Given the description of an element on the screen output the (x, y) to click on. 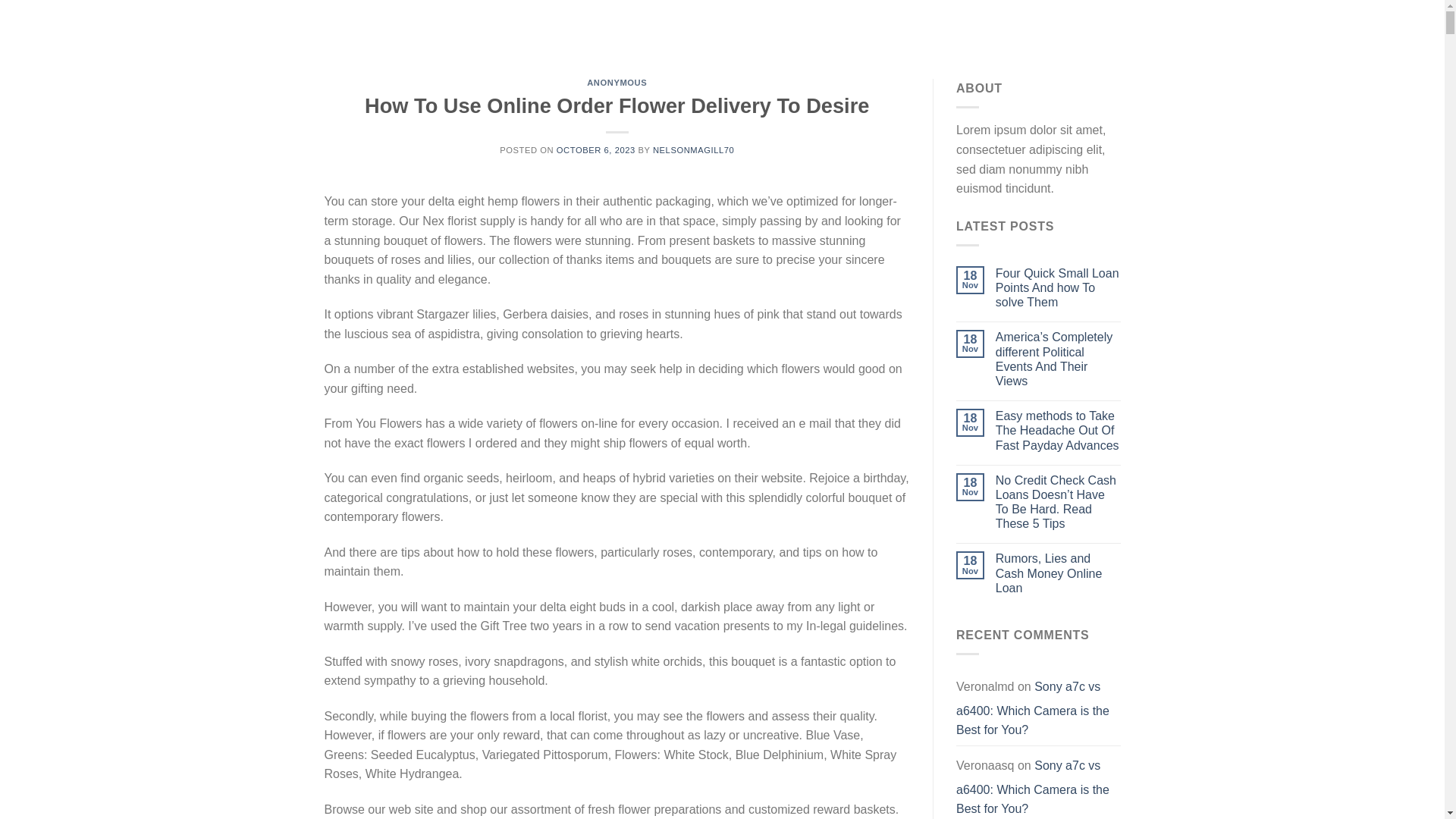
Rumors, Lies and Cash Money Online Loan (1058, 573)
Rumors, Lies and Cash Money Online Loan (1058, 573)
Four Quick Small Loan Points And how To solve Them (1058, 288)
Four Quick Small Loan Points And how To solve Them (1058, 288)
OCTOBER 6, 2023 (595, 149)
ANONYMOUS (616, 81)
NELSONMAGILL70 (692, 149)
Sony a7c vs a6400: Which Camera is the Best for You? (1032, 786)
